Given the description of an element on the screen output the (x, y) to click on. 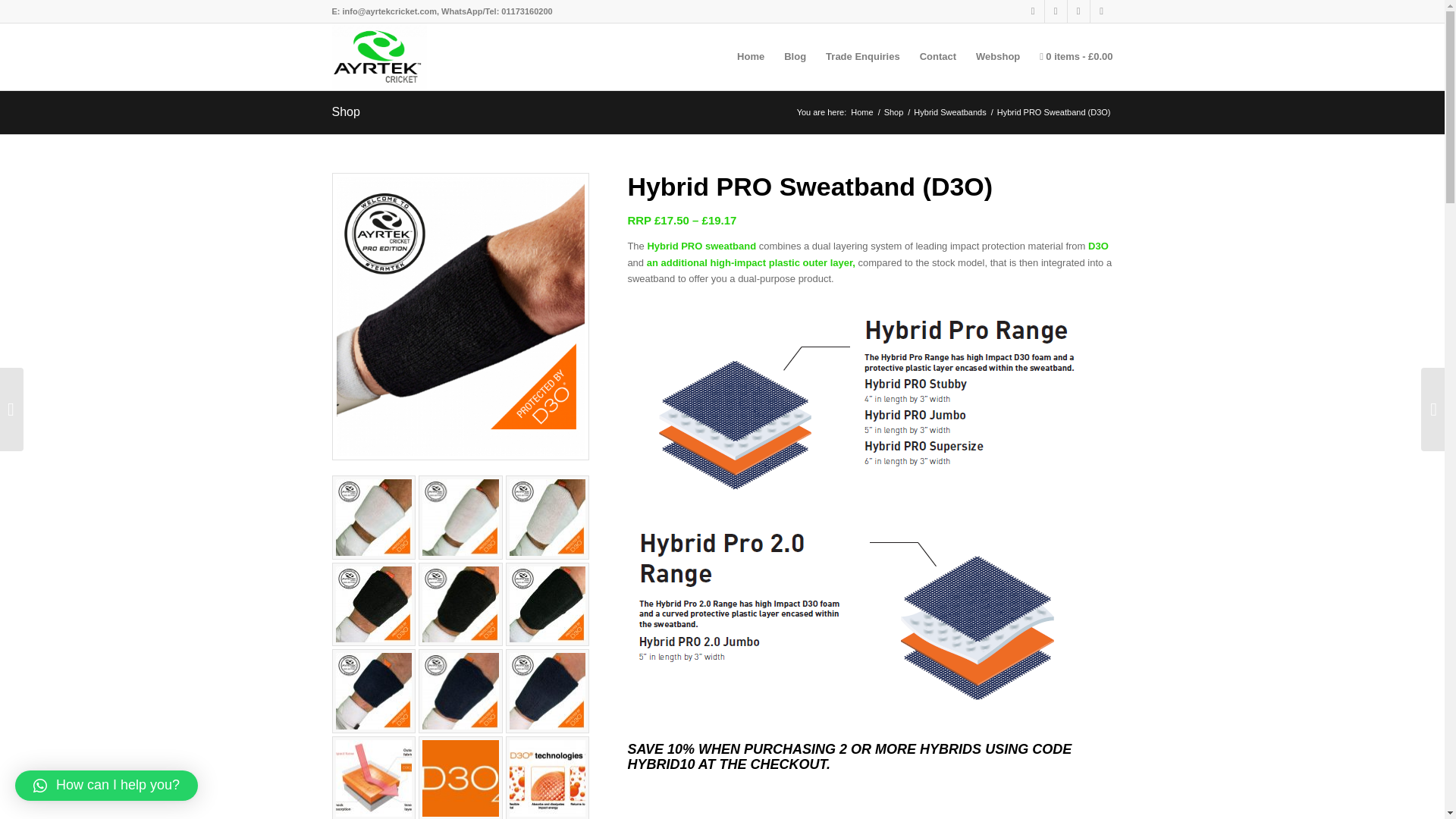
Facebook (1078, 11)
Permanent Link: Shop (345, 111)
D3O (1097, 245)
Shop (893, 112)
Instagram (1101, 11)
X (1032, 11)
Shop (893, 112)
Shop (345, 111)
Home (861, 112)
Webshop (997, 56)
Ayrtek Cricket (861, 112)
Start shopping (1070, 56)
Hybrid Sweatbands (949, 112)
Trade Enquiries (862, 56)
TikTok (1056, 11)
